Given the description of an element on the screen output the (x, y) to click on. 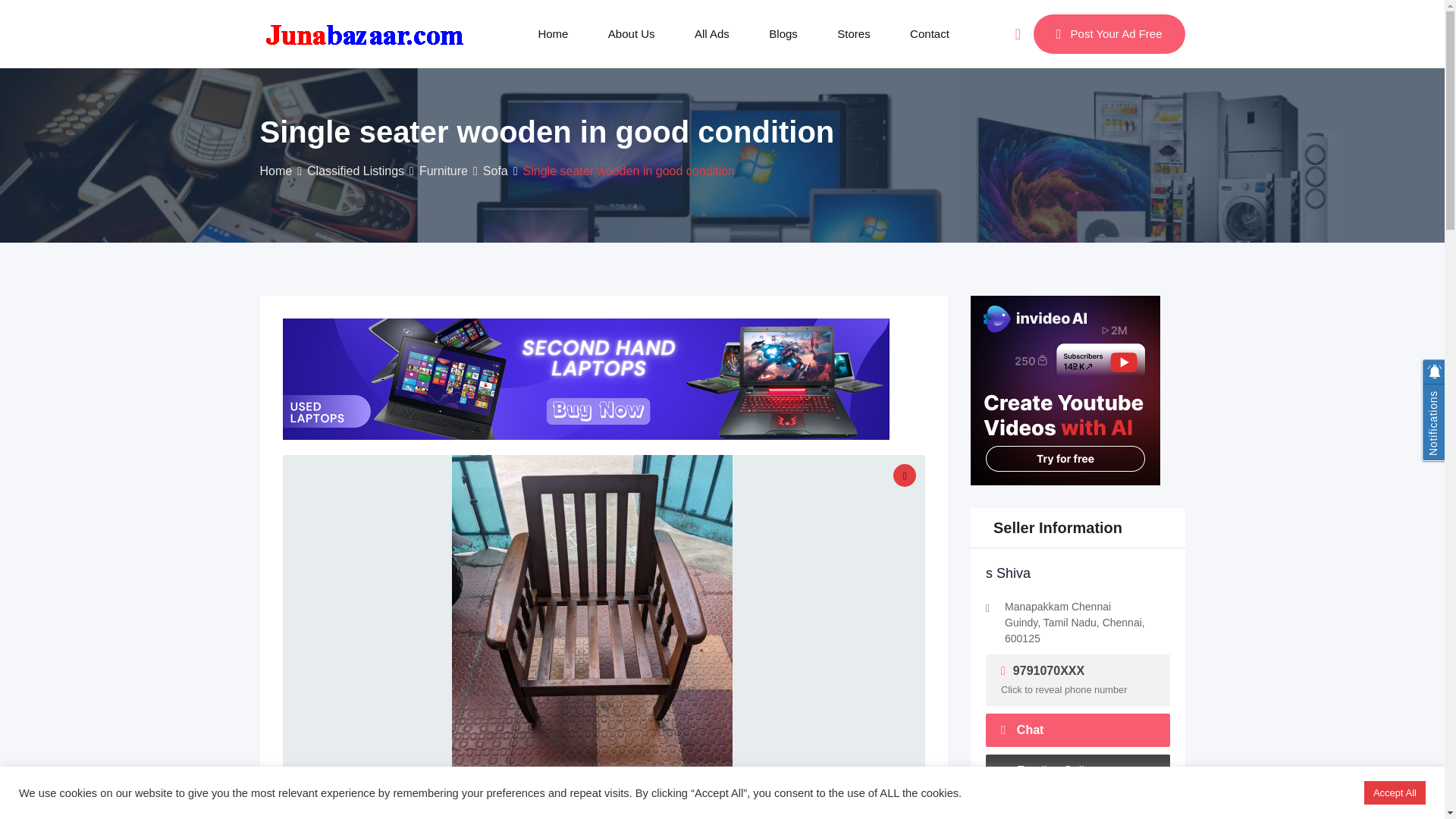
Contact (929, 33)
About Us (630, 33)
Stores (853, 33)
Post Your Ad Free (1109, 34)
Sofa (495, 170)
Home (552, 33)
Home (275, 170)
Classified Listings (355, 170)
Furniture (443, 170)
Blogs (783, 33)
All Ads (712, 33)
